Given the description of an element on the screen output the (x, y) to click on. 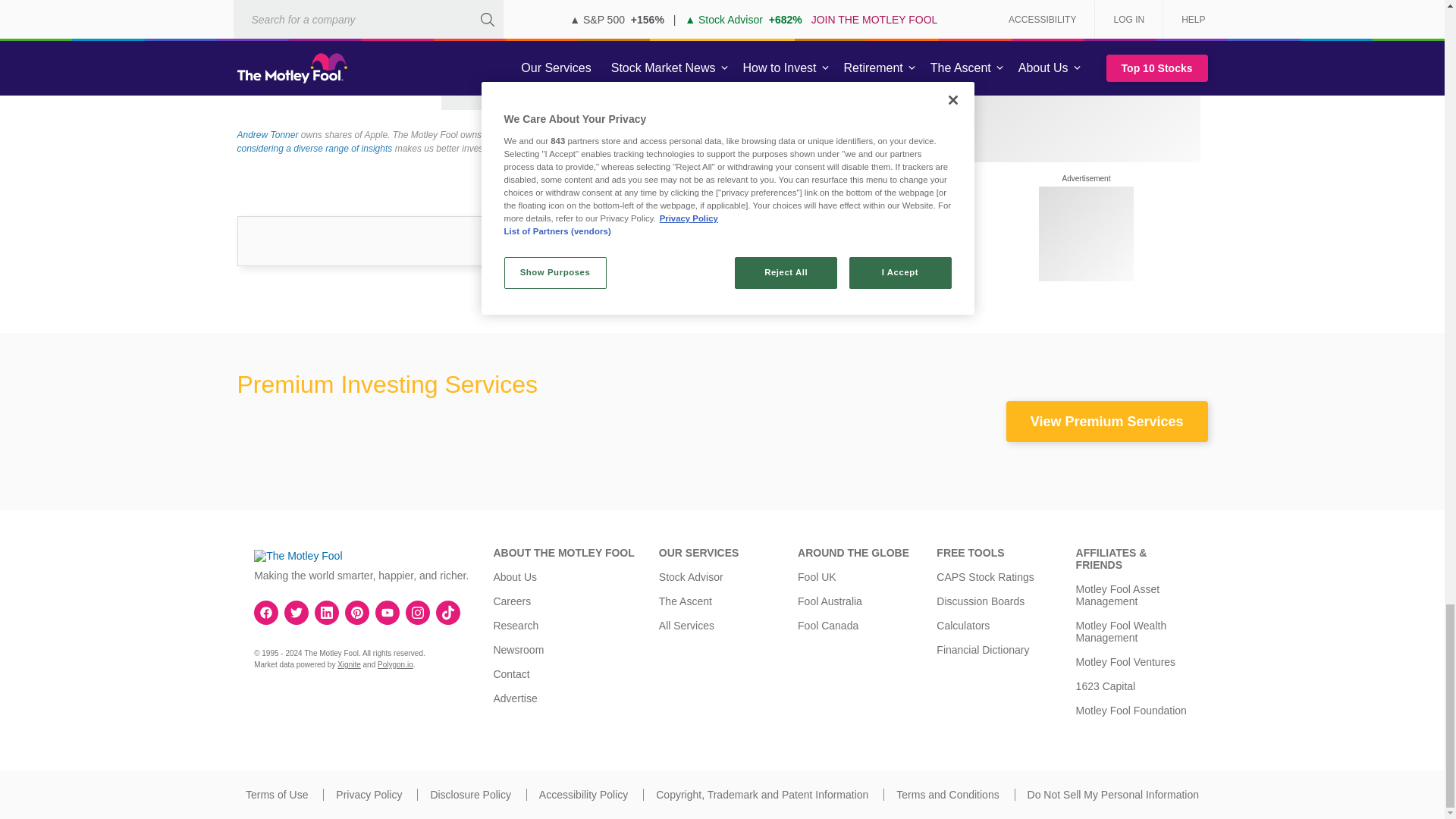
Terms of Use (276, 794)
Disclosure Policy (470, 794)
Accessibility Policy (582, 794)
Privacy Policy (368, 794)
Terms and Conditions (947, 794)
Copyright, Trademark and Patent Information (761, 794)
Do Not Sell My Personal Information. (1112, 794)
